Given the description of an element on the screen output the (x, y) to click on. 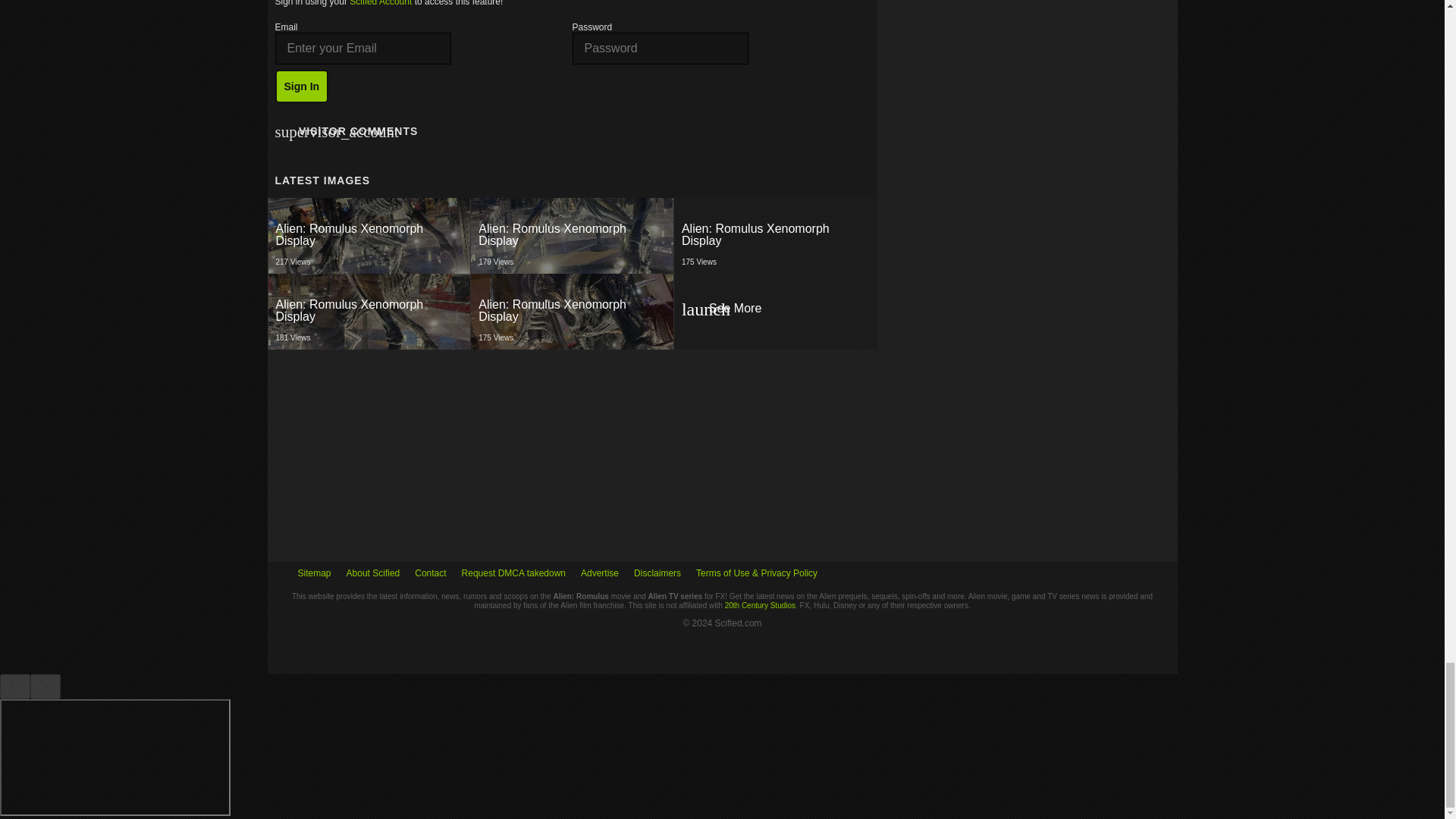
See More (572, 311)
Scified Account (774, 235)
Sign In (571, 235)
See More (368, 235)
